Given the description of an element on the screen output the (x, y) to click on. 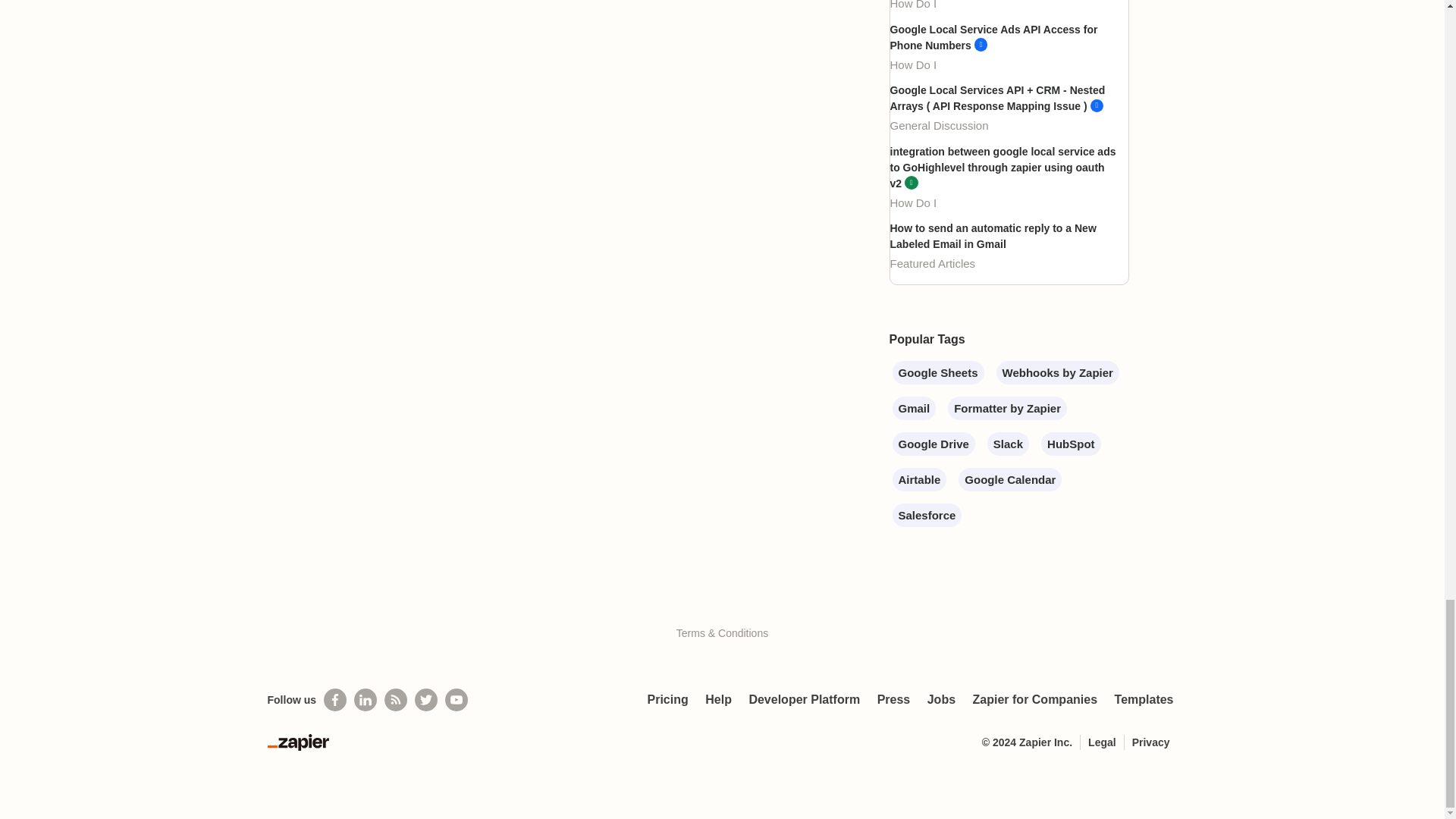
Follow us on LinkedIn (365, 699)
See helpful Zapier videos on Youtube (456, 699)
Follow us on Facebook (334, 699)
Visit Gainsight.com (722, 601)
Subscribe to our blog (395, 699)
